Given the description of an element on the screen output the (x, y) to click on. 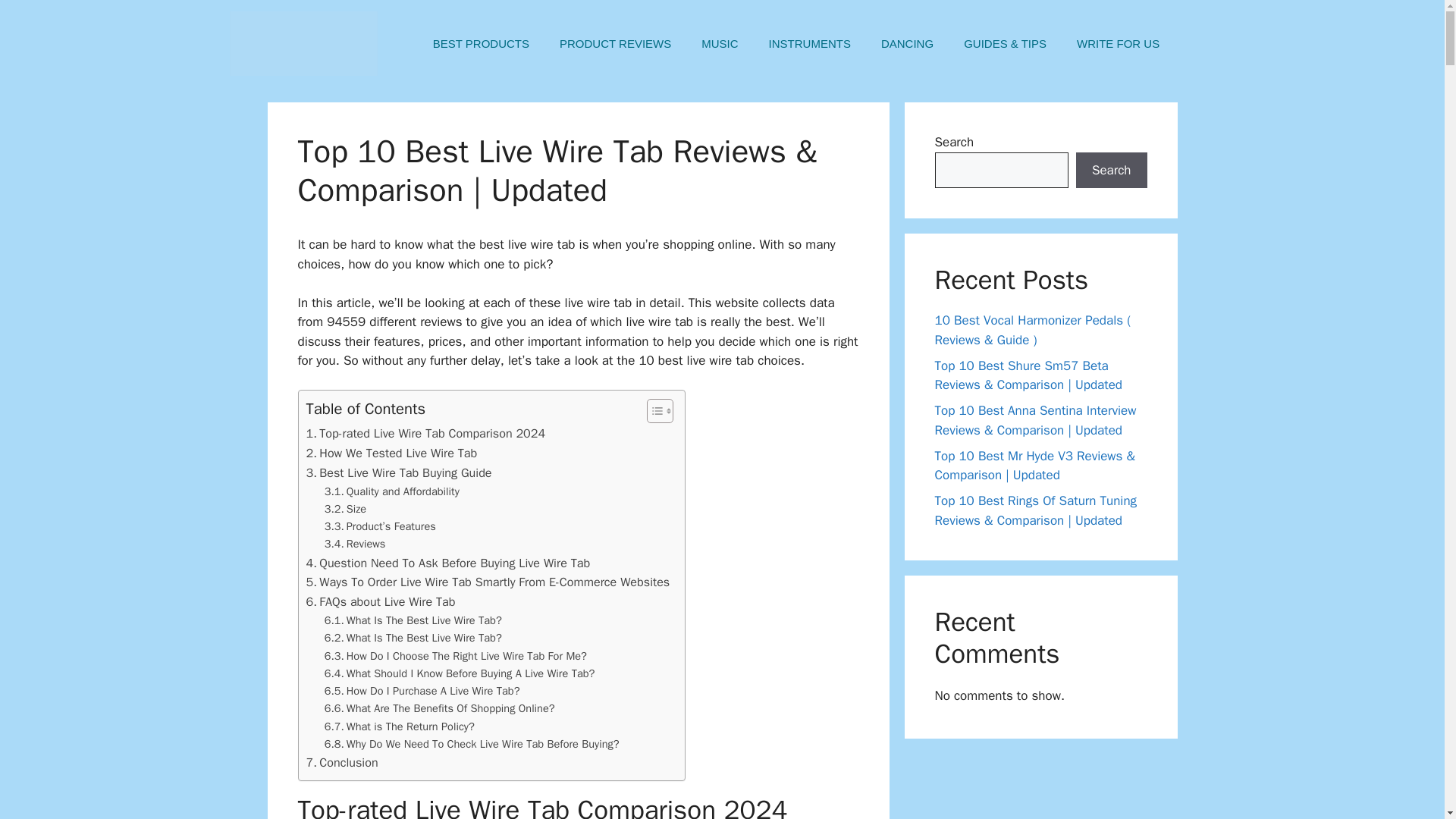
Reviews (354, 543)
BEST PRODUCTS (480, 43)
What is The Return Policy? (399, 726)
FAQs about Live Wire Tab (380, 601)
How We Tested Live Wire Tab (391, 453)
What Is The Best Live Wire Tab? (413, 620)
Ways To Order Live Wire Tab Smartly From E-Commerce Websites (487, 582)
What Is The Best Live Wire Tab? (413, 638)
Question Need To Ask Before Buying Live Wire Tab (448, 563)
PRODUCT REVIEWS (614, 43)
Quality and Affordability (392, 491)
Size (345, 508)
INSTRUMENTS (810, 43)
Size (345, 508)
FAQs about Live Wire Tab (380, 601)
